Given the description of an element on the screen output the (x, y) to click on. 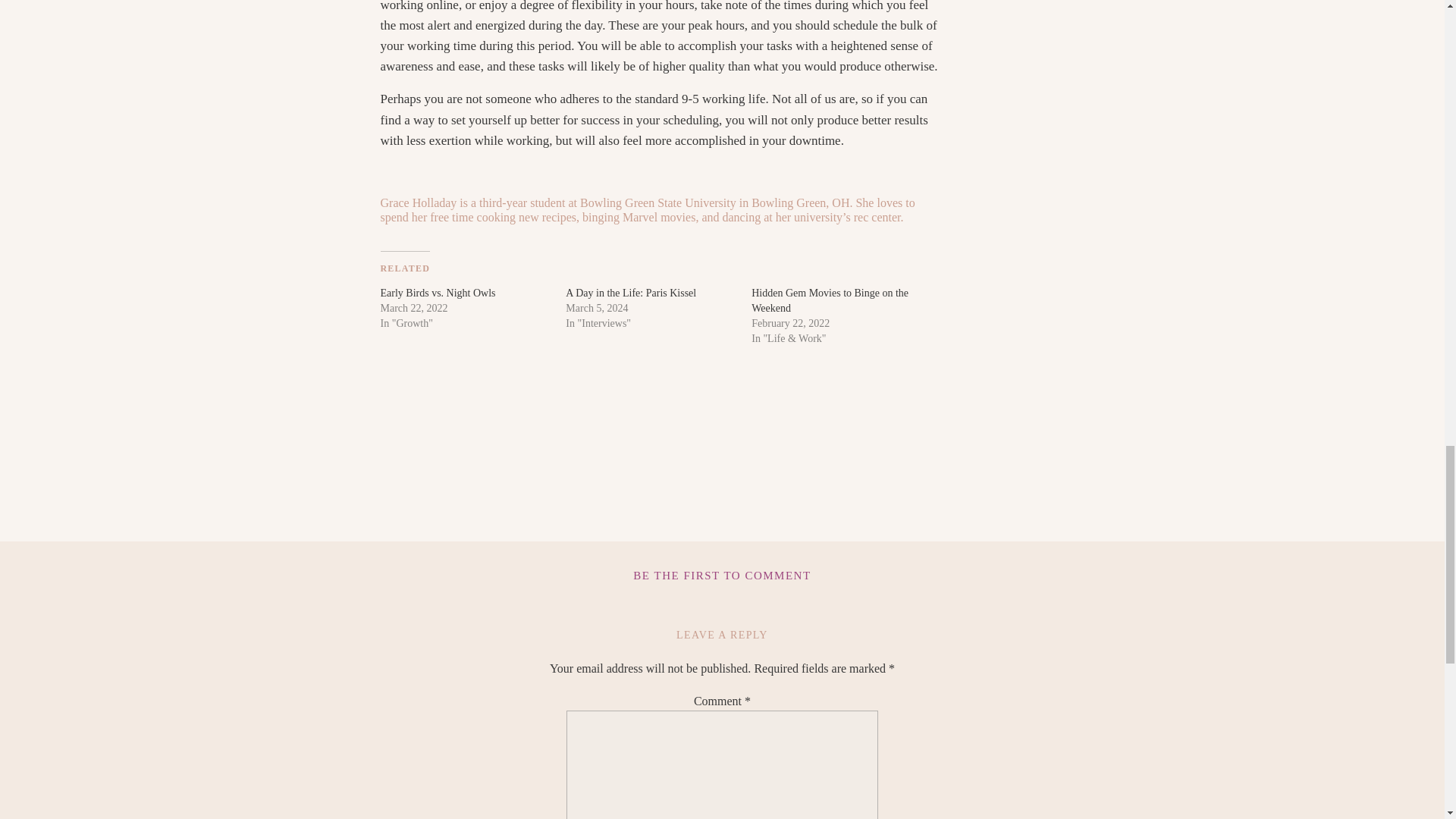
Early Birds vs. Night Owls (438, 292)
Hidden Gem Movies to Binge on the Weekend (829, 300)
A Day in the Life: Paris Kissel (630, 292)
